Given the description of an element on the screen output the (x, y) to click on. 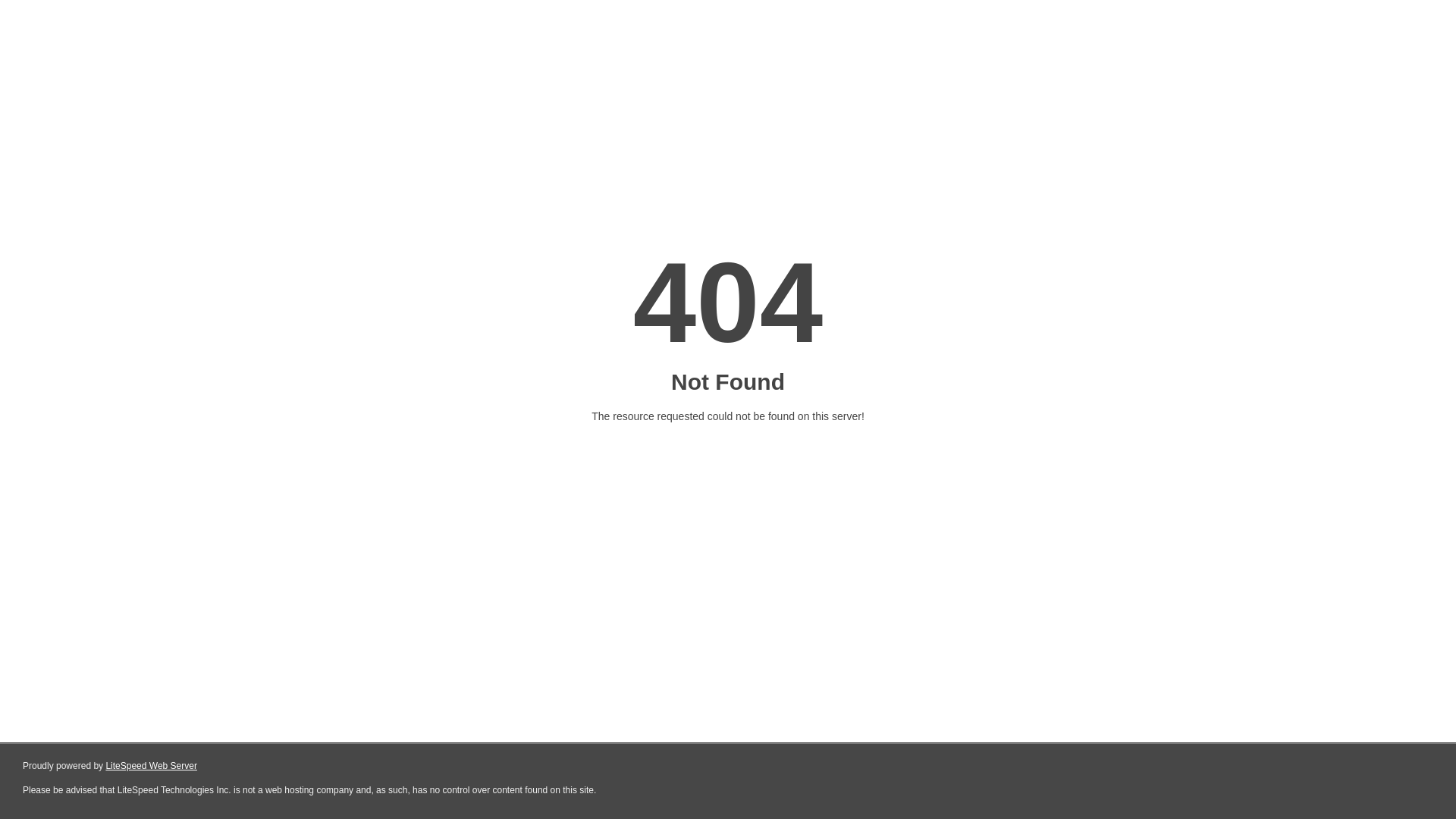
LiteSpeed Web Server Element type: text (151, 765)
